Given the description of an element on the screen output the (x, y) to click on. 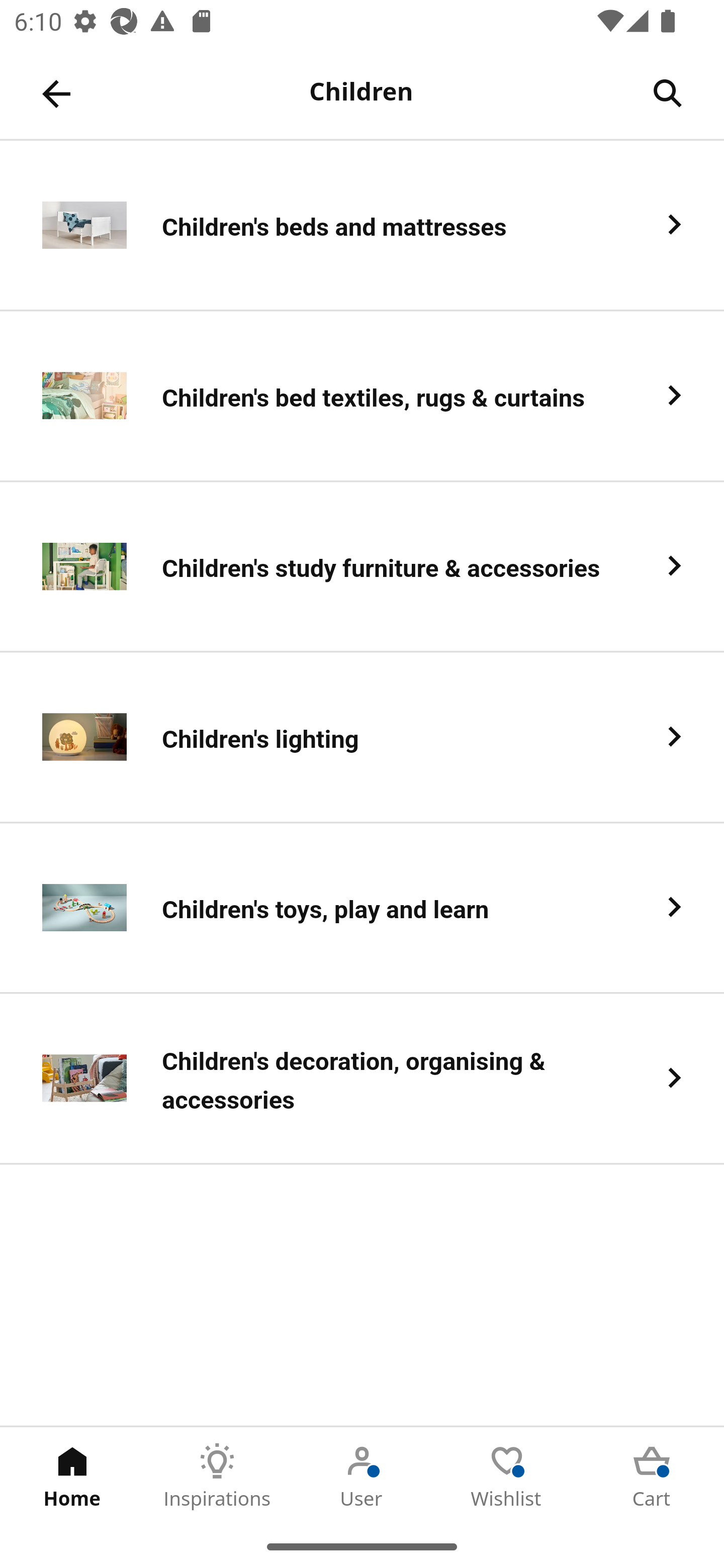
Children's beds and mattresses (362, 226)
Children's bed textiles, rugs & curtains (362, 396)
Children's study furniture & accessories (362, 566)
Children's lighting (362, 737)
Children's toys, play and learn (362, 908)
Children's decoration, organising & accessories (362, 1079)
Home
Tab 1 of 5 (72, 1476)
Inspirations
Tab 2 of 5 (216, 1476)
User
Tab 3 of 5 (361, 1476)
Wishlist
Tab 4 of 5 (506, 1476)
Cart
Tab 5 of 5 (651, 1476)
